Given the description of an element on the screen output the (x, y) to click on. 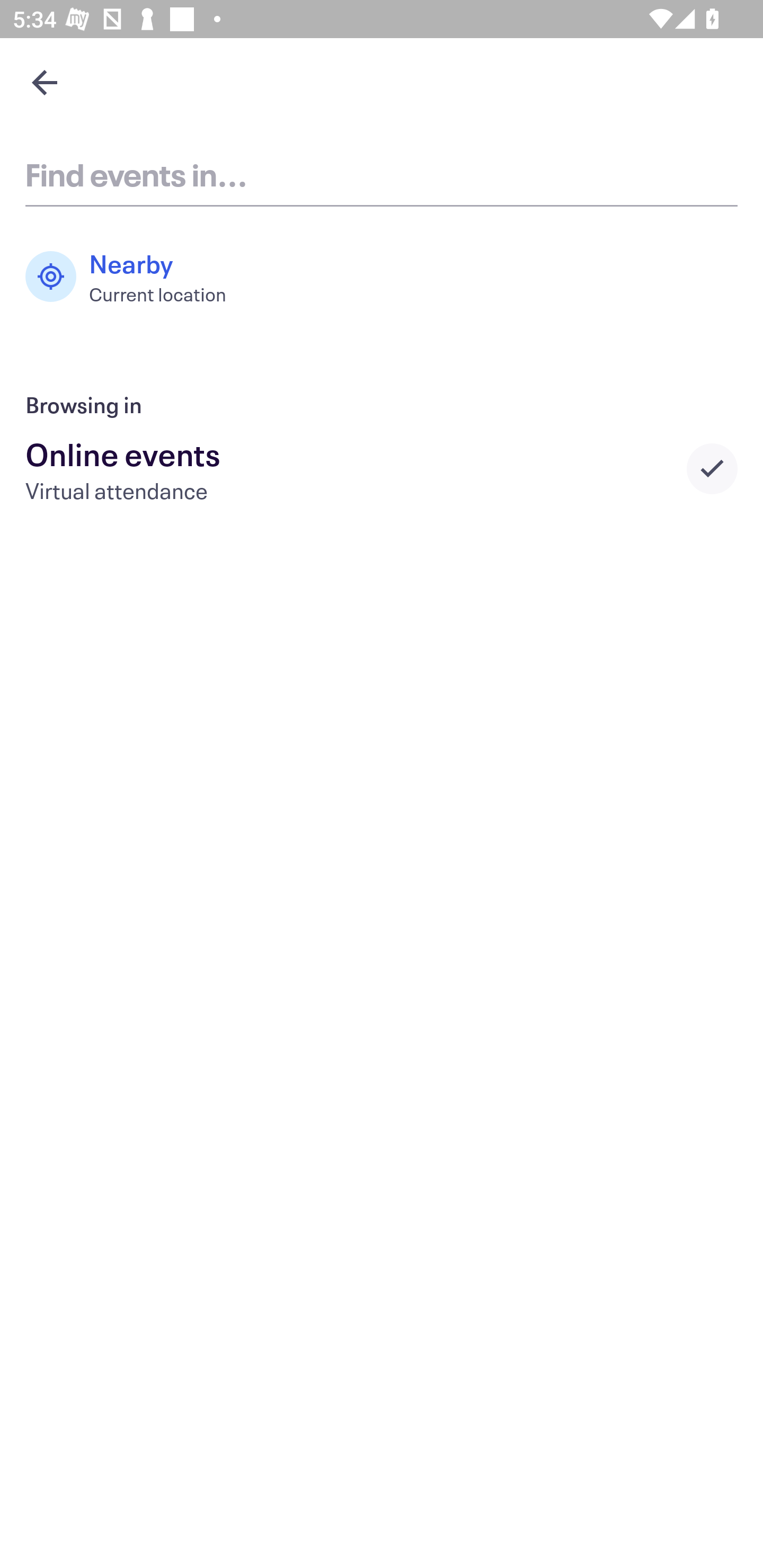
Navigate up (44, 82)
Find events in... (381, 173)
Nearby Current location (135, 276)
Online events Virtual attendance Selected city (381, 468)
